Given the description of an element on the screen output the (x, y) to click on. 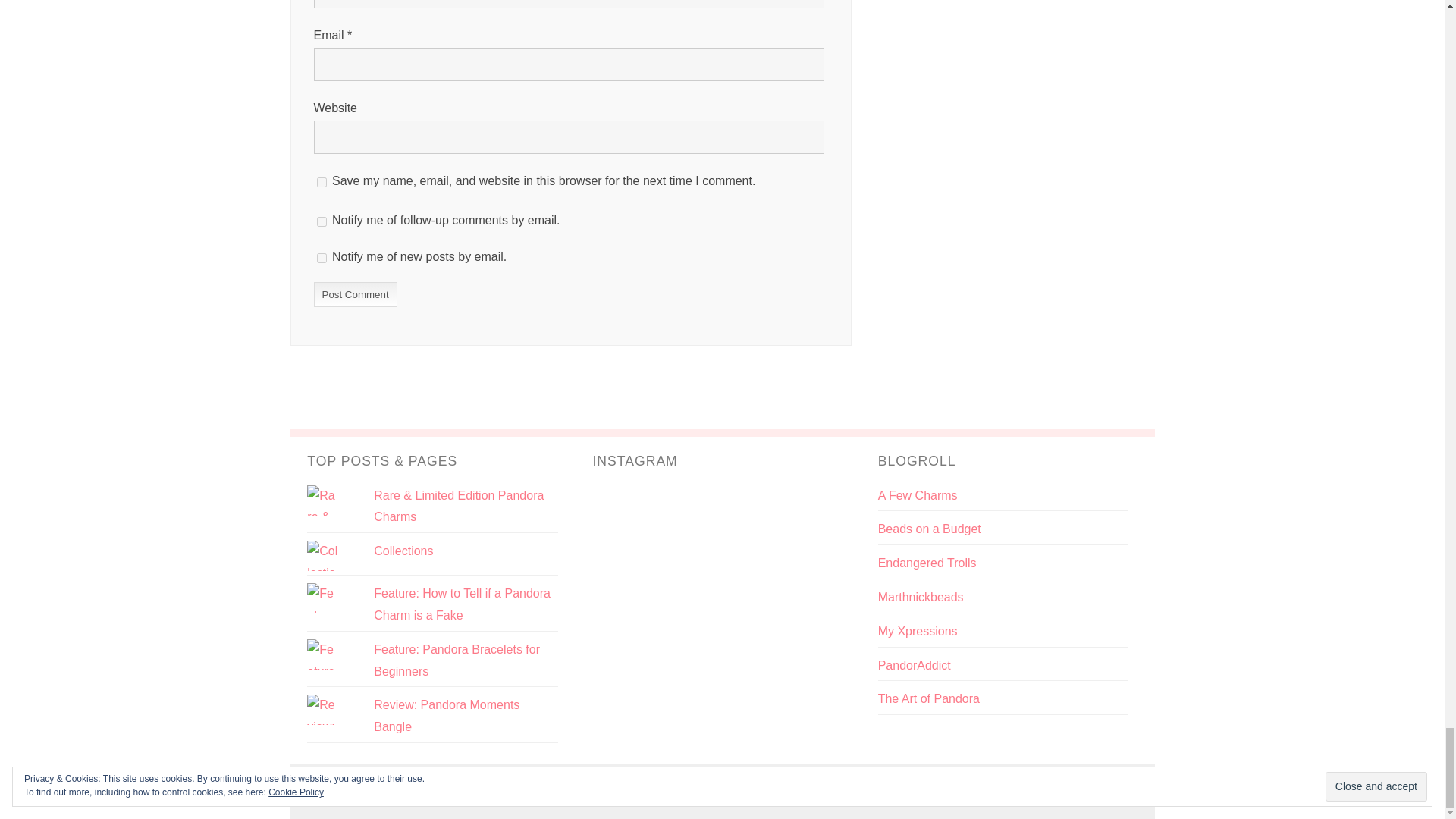
Collections (403, 550)
Post Comment (355, 294)
Feature: Pandora Bracelets for Beginners (457, 660)
yes (321, 182)
subscribe (321, 221)
subscribe (321, 257)
Feature: How to Tell if a Pandora Charm is a Fake (462, 604)
